Given the description of an element on the screen output the (x, y) to click on. 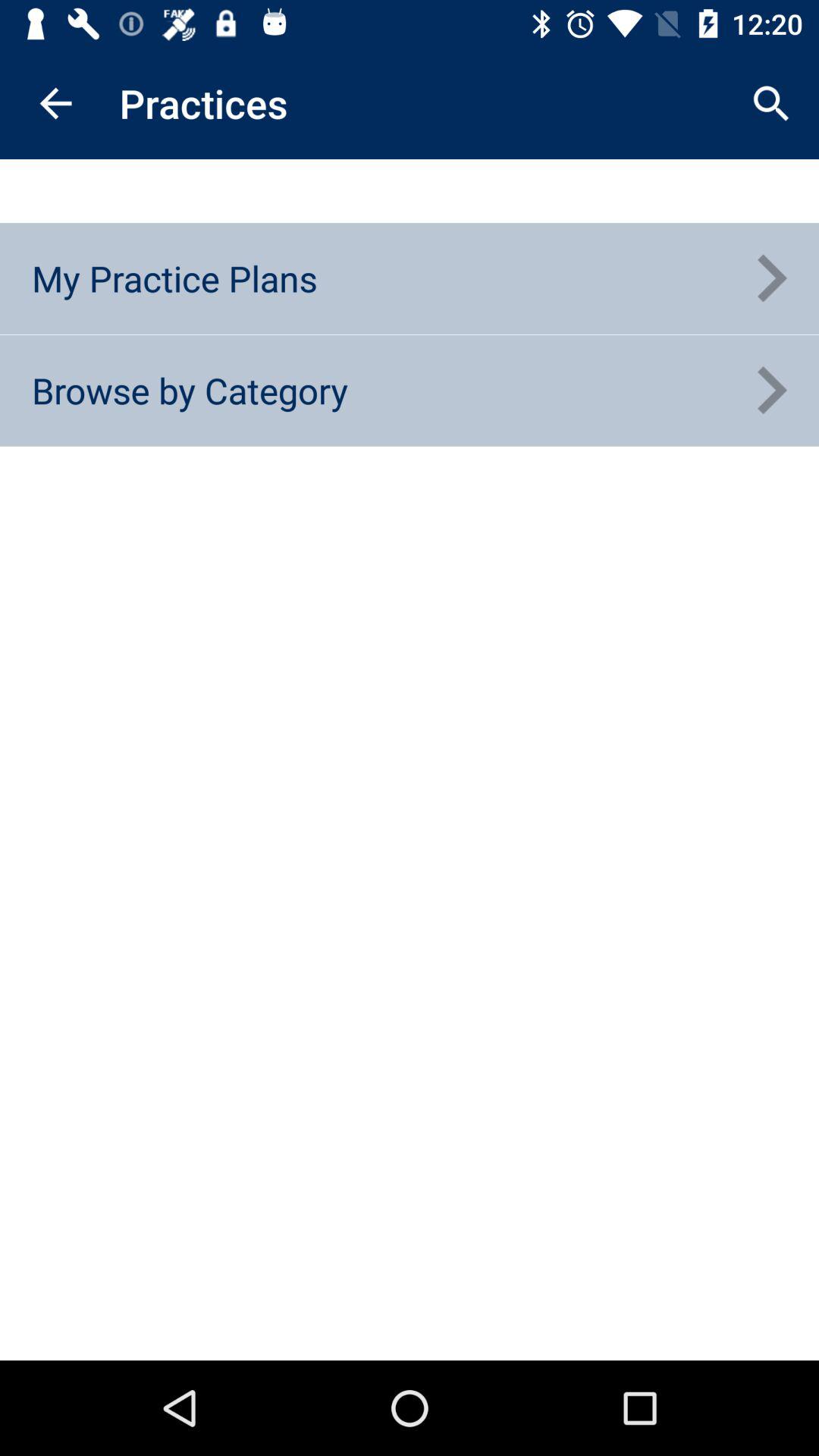
flip to browse by category icon (189, 390)
